Given the description of an element on the screen output the (x, y) to click on. 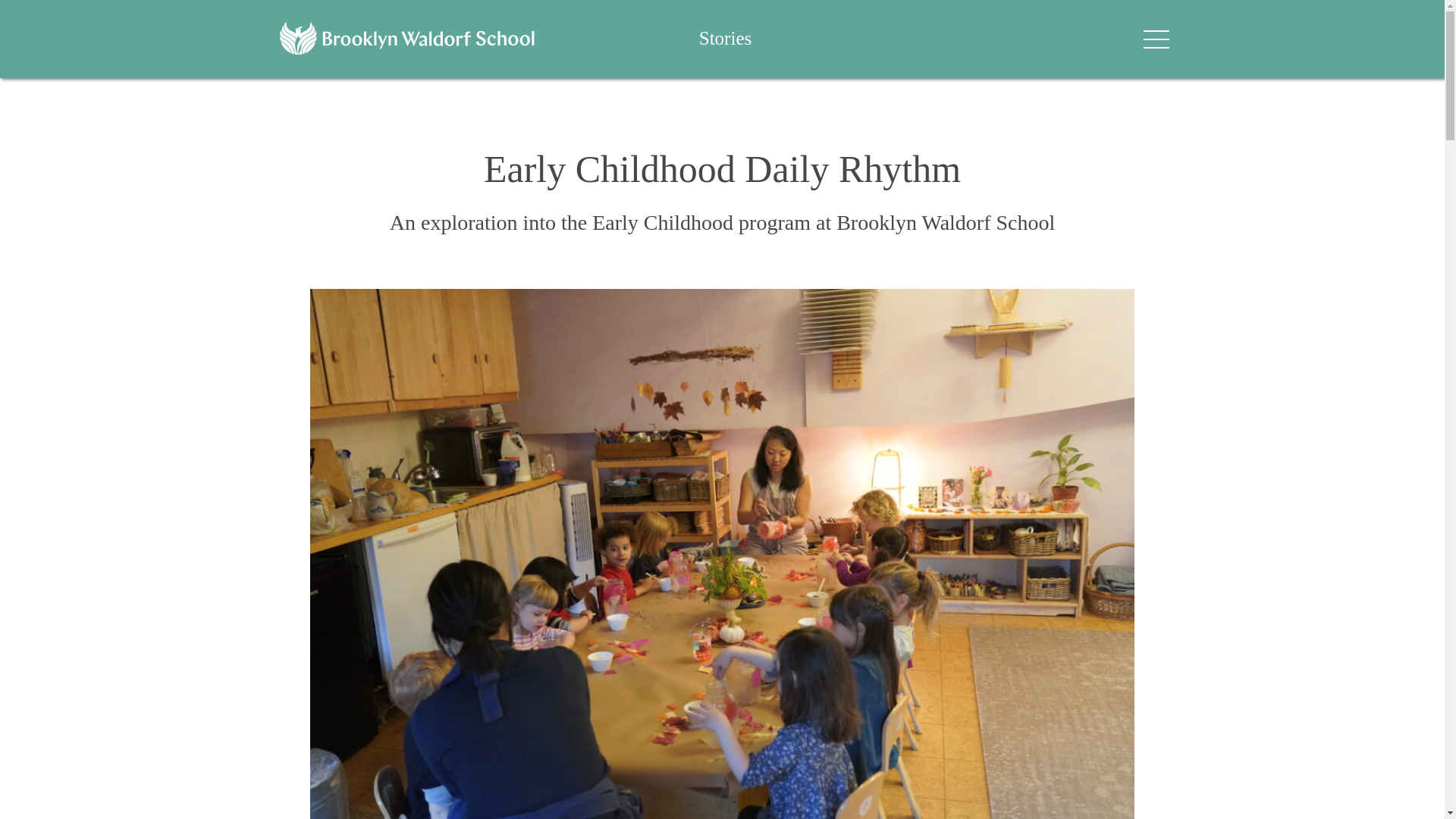
Stories (724, 37)
